Given the description of an element on the screen output the (x, y) to click on. 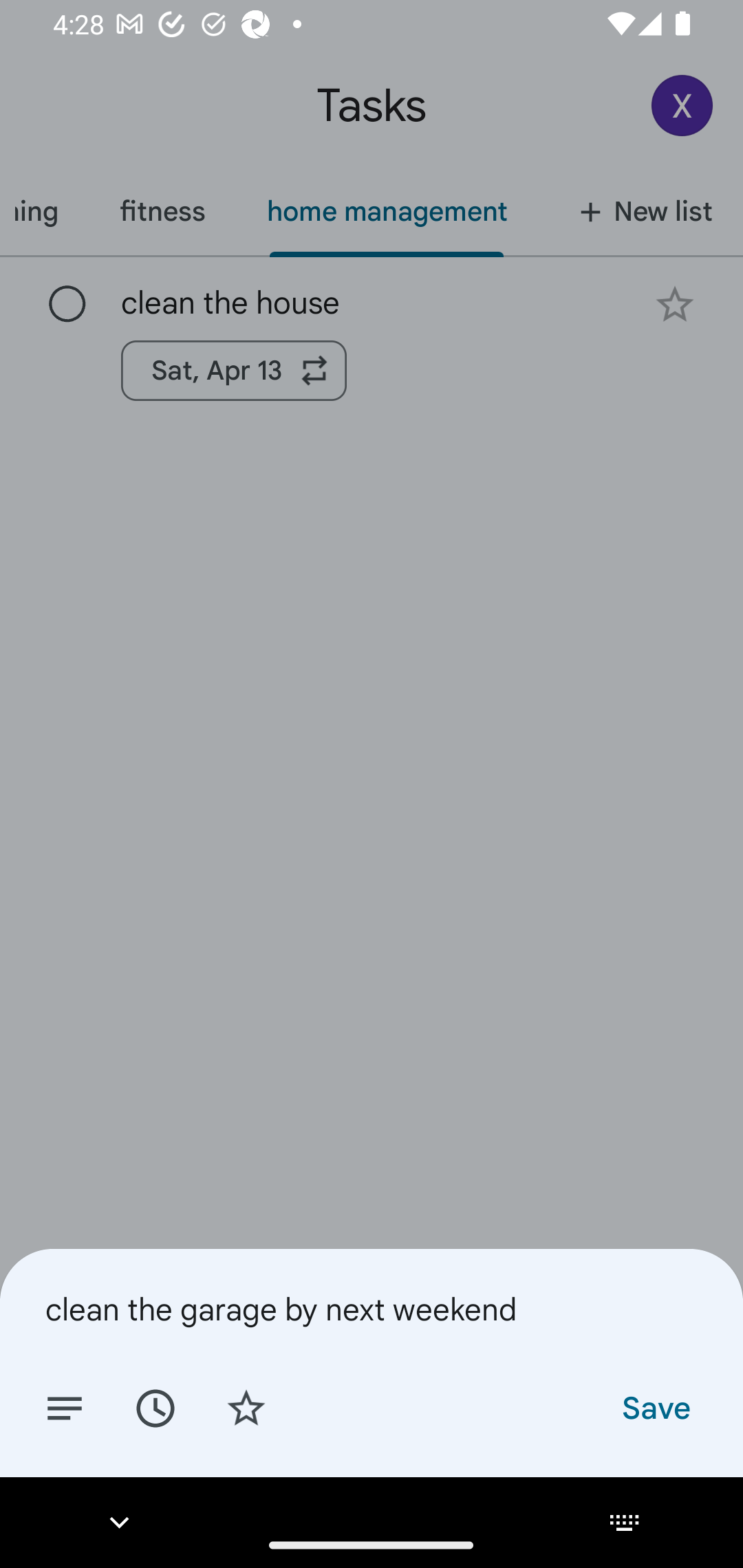
clean the garage by next weekend (371, 1308)
Save (655, 1407)
Add details (64, 1407)
Set date/time (154, 1407)
Add star (245, 1407)
